Given the description of an element on the screen output the (x, y) to click on. 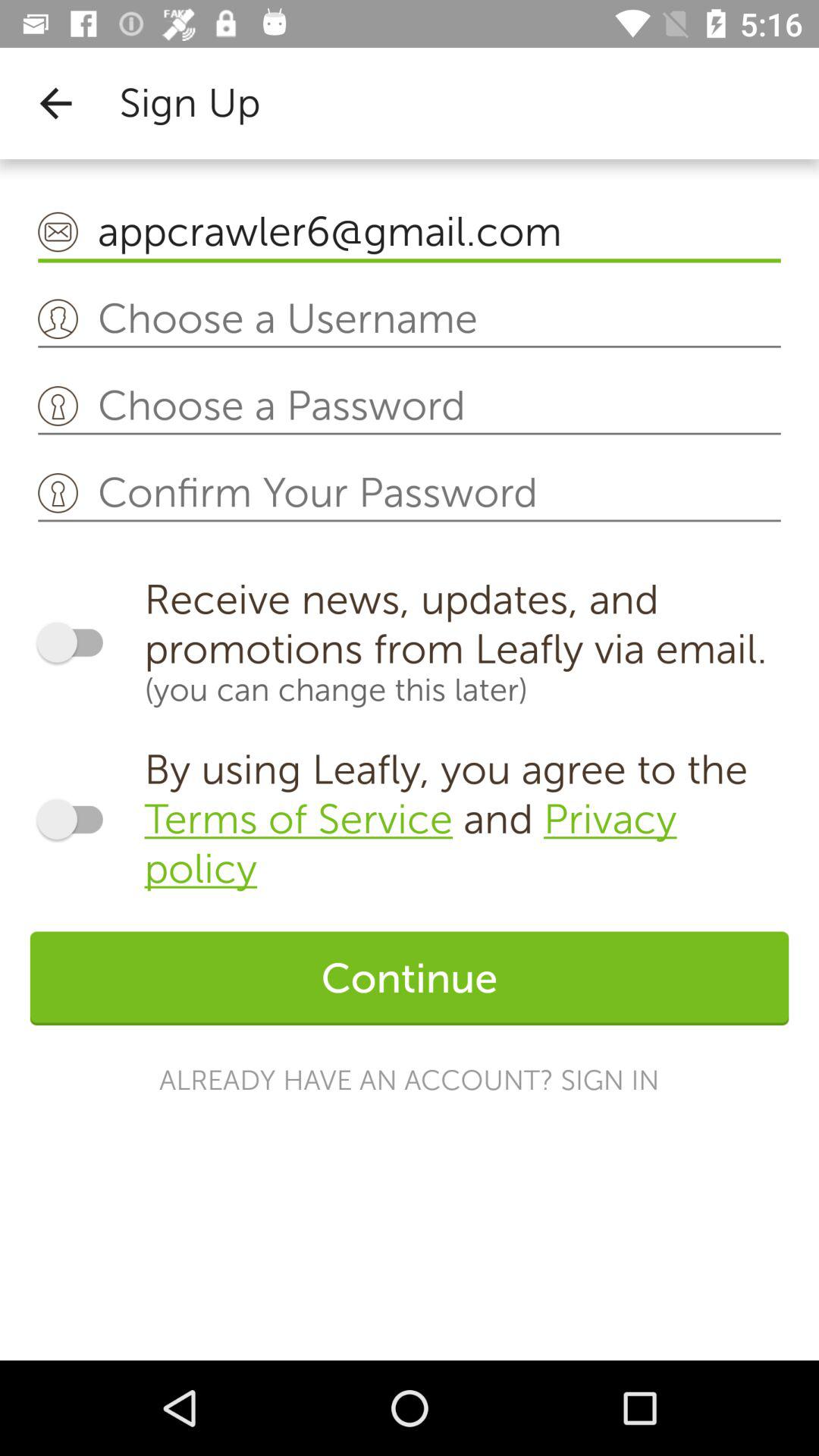
choose the continue (409, 978)
